Given the description of an element on the screen output the (x, y) to click on. 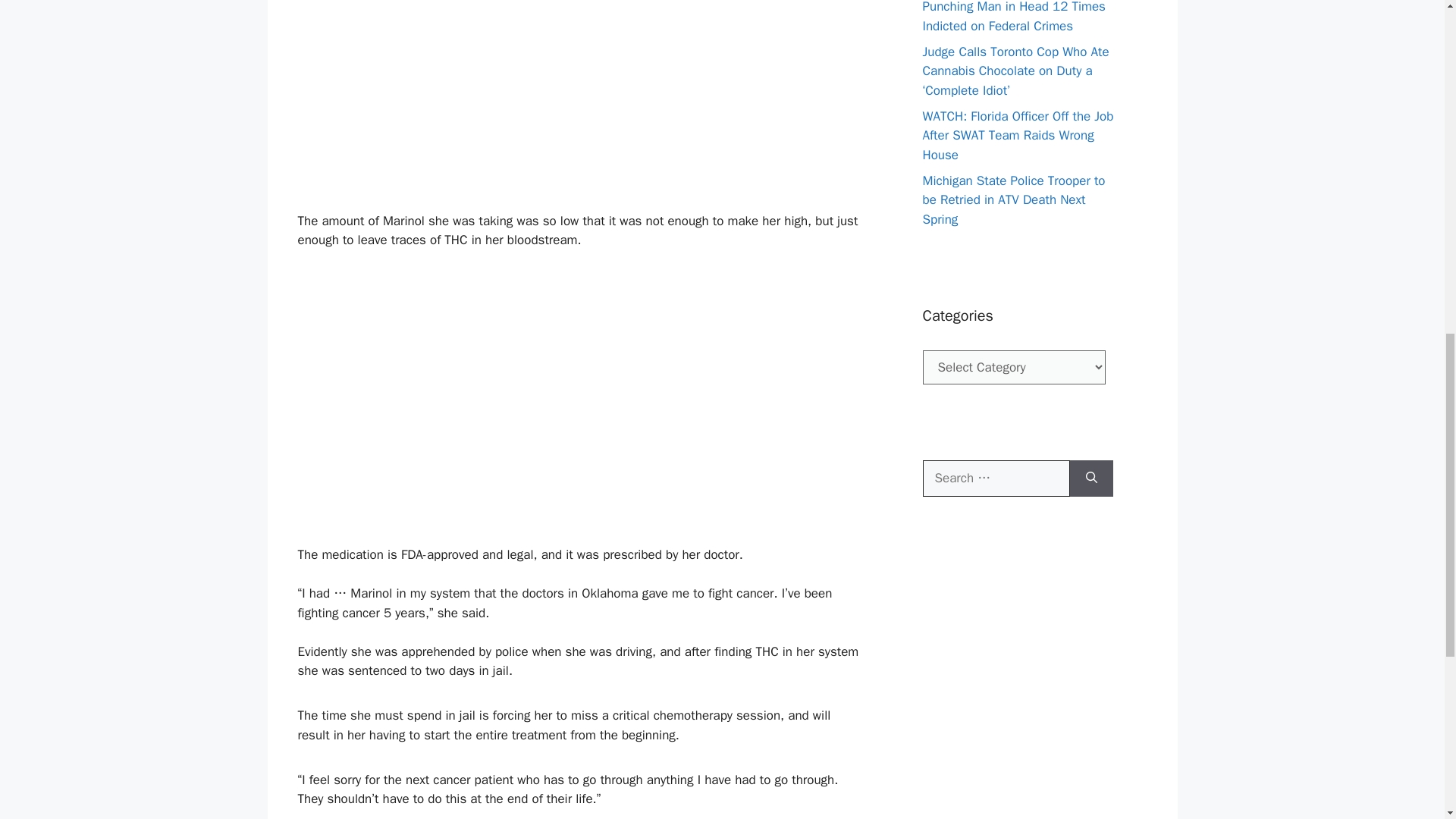
Advertisement (579, 102)
Search for: (994, 478)
Advertisement (578, 413)
